Given the description of an element on the screen output the (x, y) to click on. 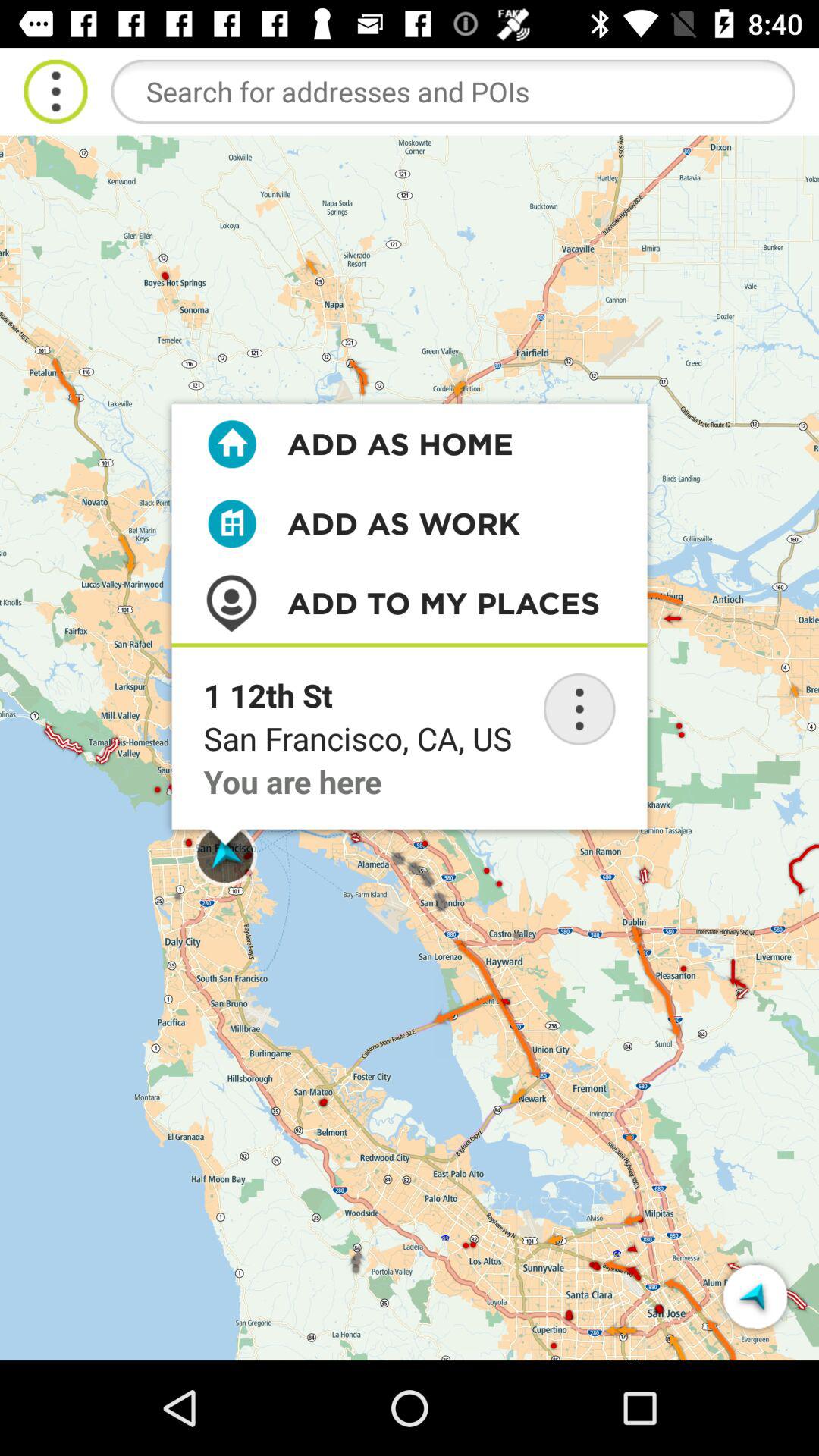
search box (453, 91)
